Given the description of an element on the screen output the (x, y) to click on. 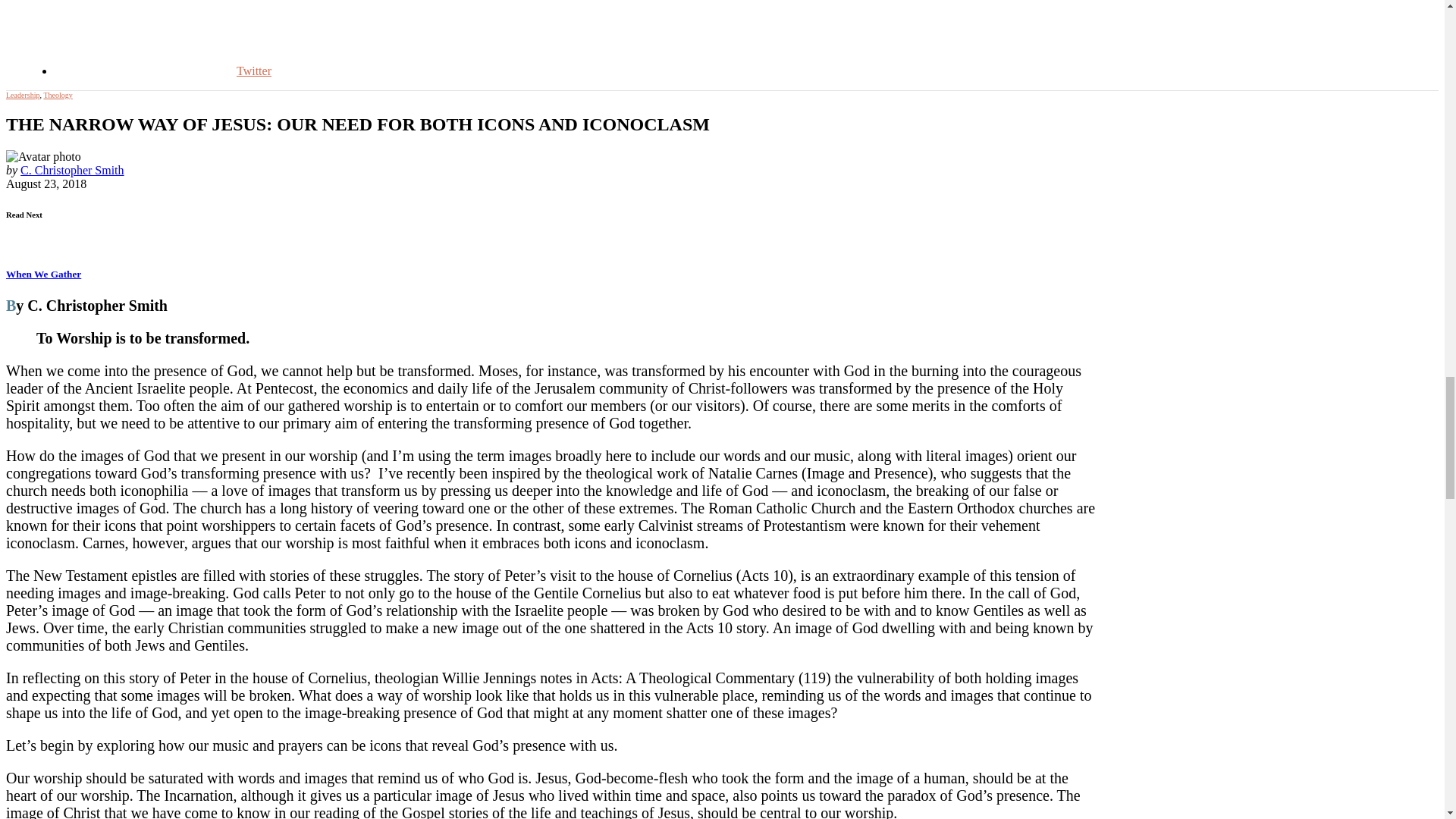
Leadership (22, 94)
Posts by C. Christopher Smith (71, 169)
When We Gather (43, 274)
Twitter (162, 70)
C. Christopher Smith (71, 169)
Theology (57, 94)
